Given the description of an element on the screen output the (x, y) to click on. 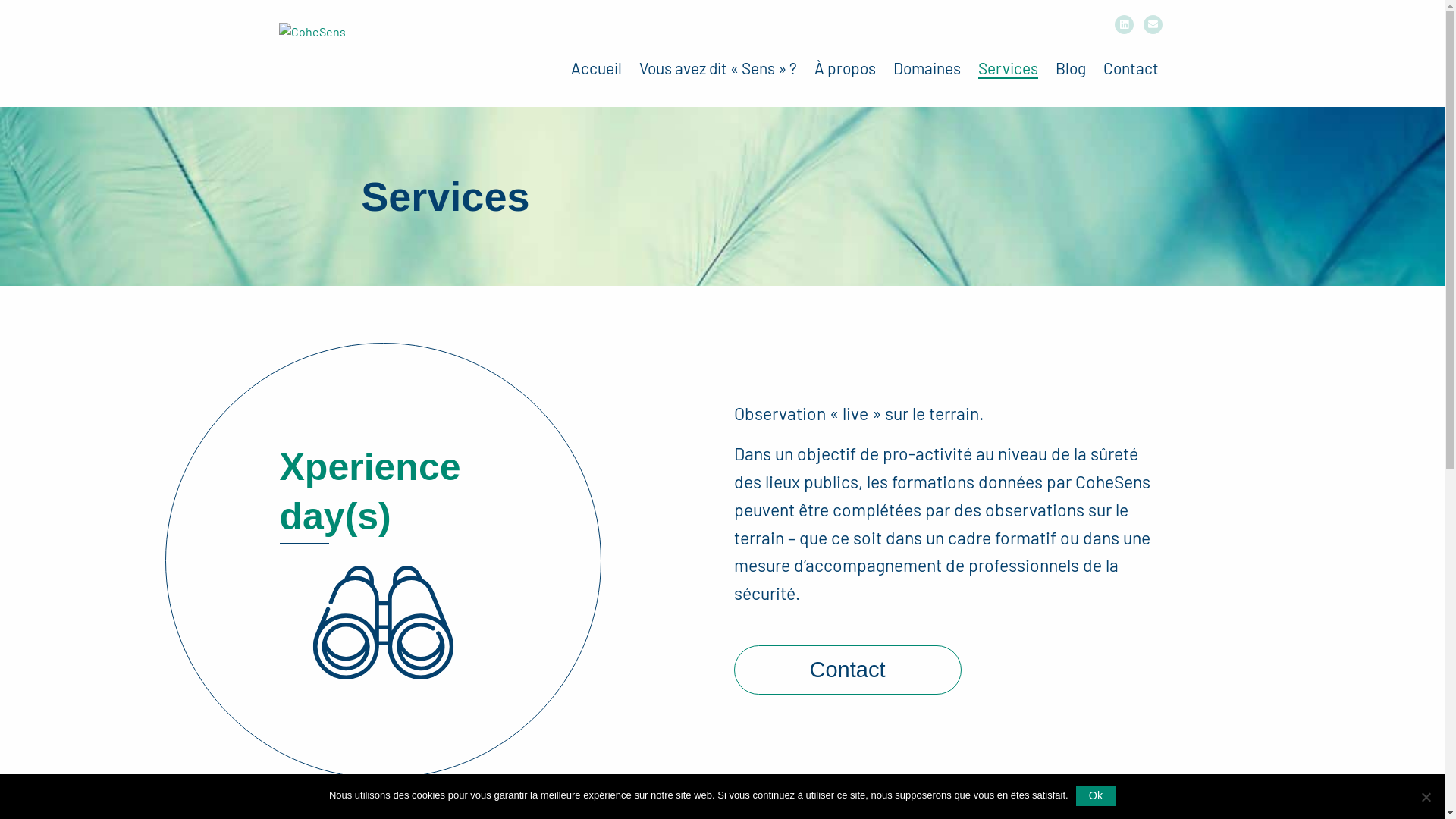
Non Element type: hover (1425, 796)
Email Element type: text (1152, 24)
Linkedin Element type: text (1123, 24)
Domaines Element type: text (926, 67)
Blog Element type: text (1070, 67)
Contact Element type: text (847, 670)
Contact Element type: text (1129, 67)
Accueil Element type: text (595, 67)
Services Element type: text (1008, 68)
Ok Element type: text (1095, 795)
